Given the description of an element on the screen output the (x, y) to click on. 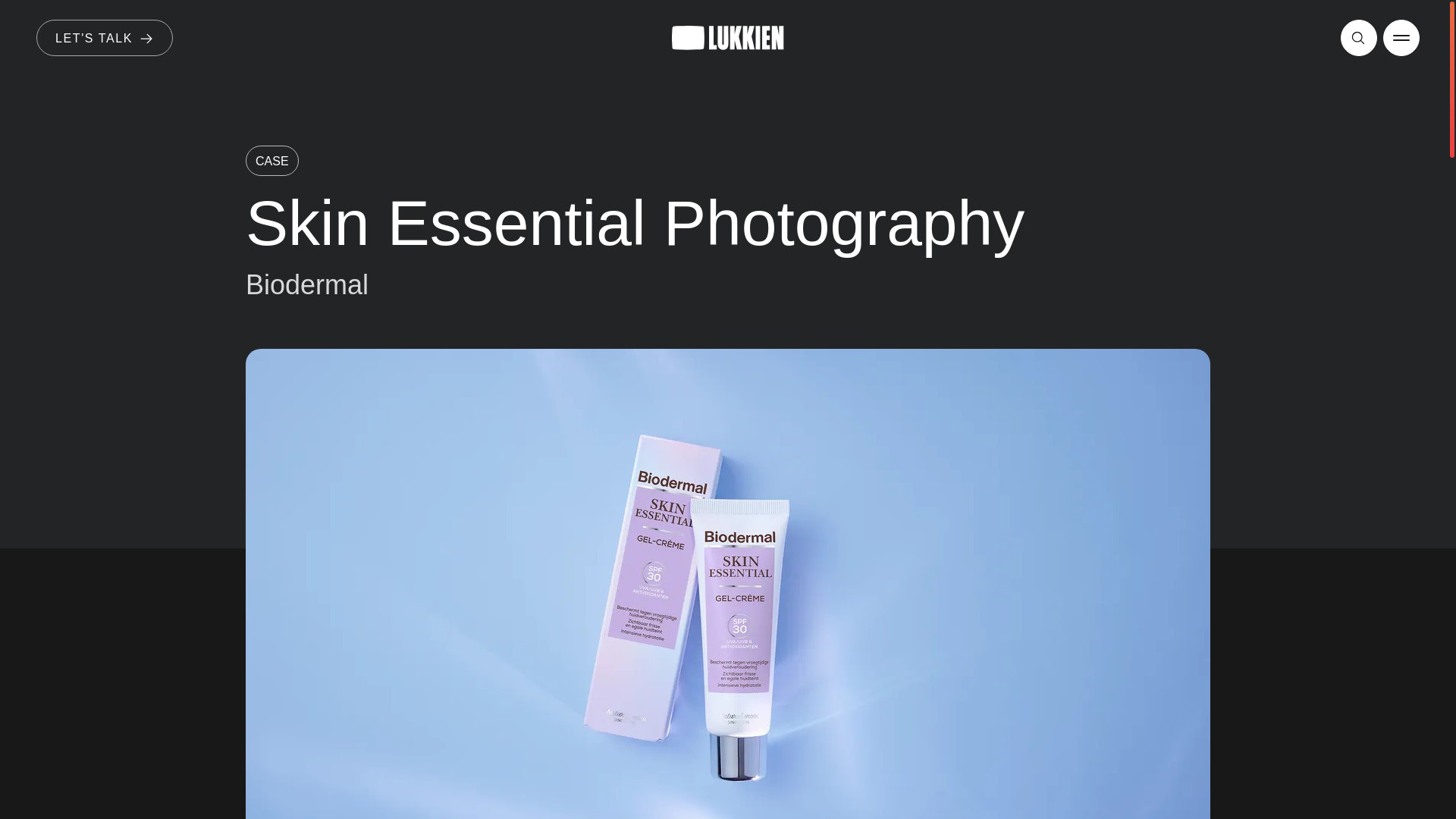
CASE (272, 160)
LET'S TALK (104, 37)
